Given the description of an element on the screen output the (x, y) to click on. 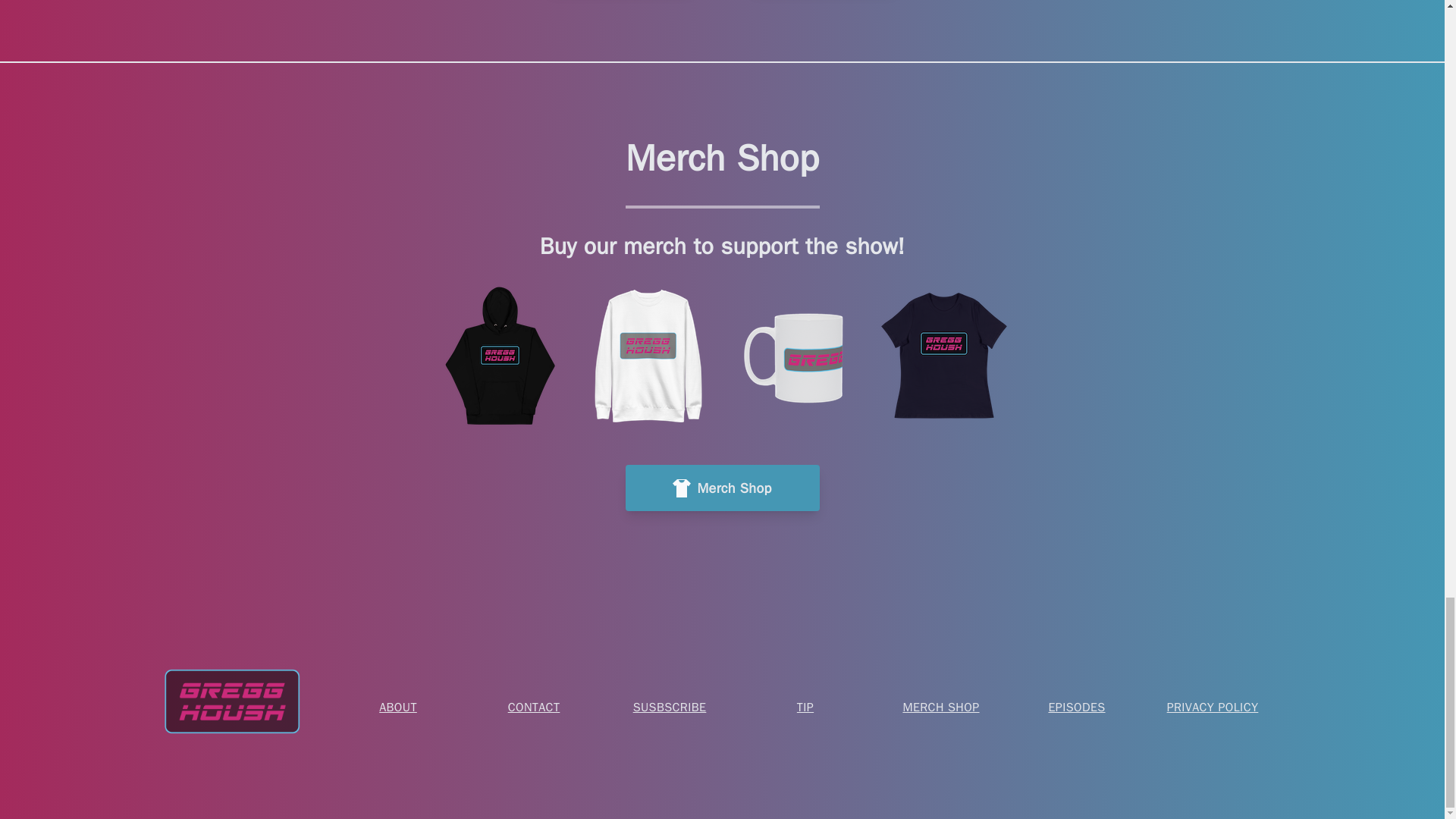
Merch Shop (721, 488)
